Given the description of an element on the screen output the (x, y) to click on. 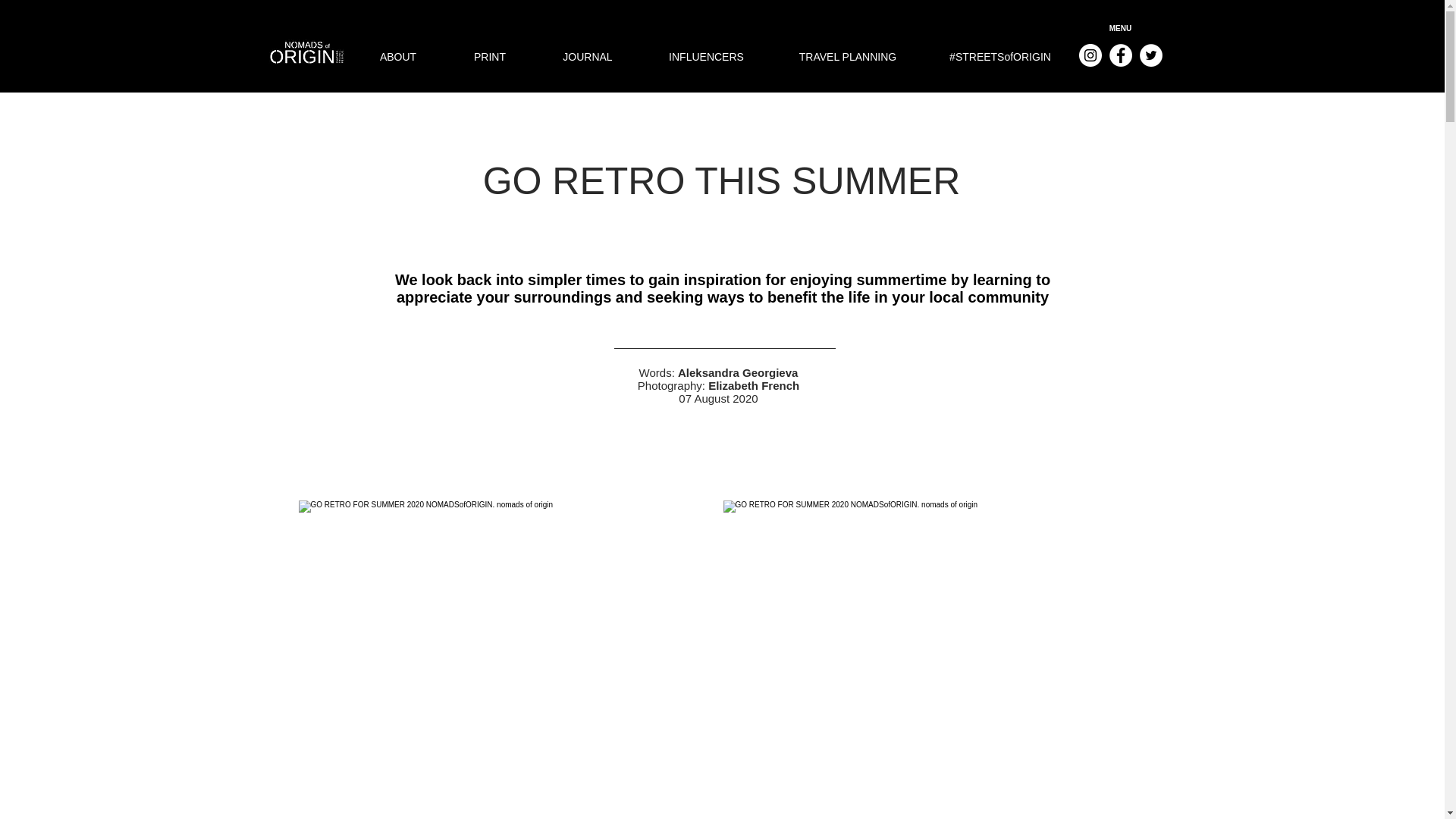
MENU (1120, 28)
JOURNAL (587, 56)
TRAVEL PLANNING (847, 56)
PRINT (489, 56)
ABOUT (397, 56)
INFLUENCERS (706, 56)
